Given the description of an element on the screen output the (x, y) to click on. 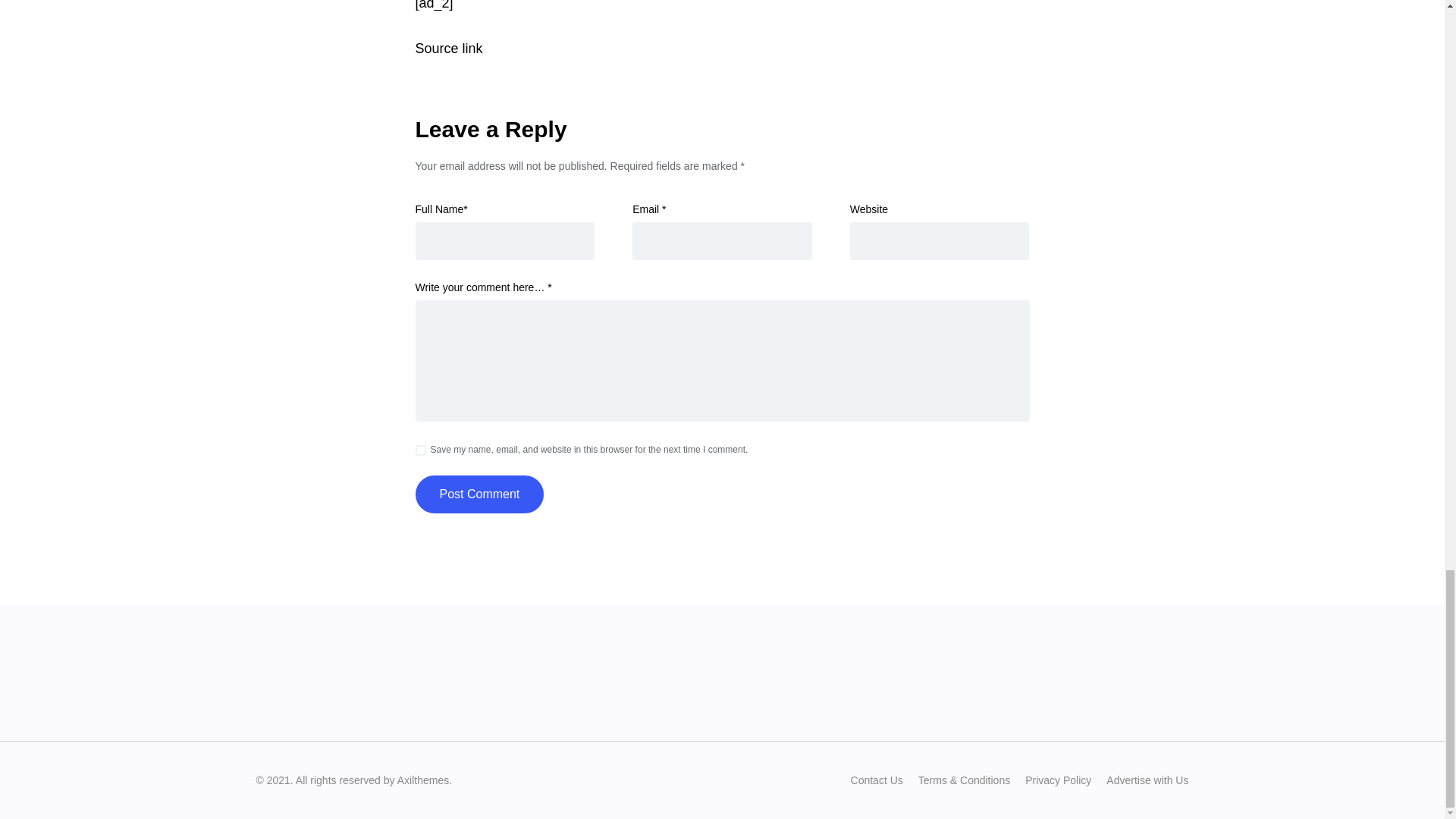
Post Comment (479, 494)
Advertise with Us (1147, 779)
Contact Us (876, 779)
Privacy Policy (1057, 779)
Axilthemes. (424, 779)
Post Comment (479, 494)
Source link (448, 48)
